Given the description of an element on the screen output the (x, y) to click on. 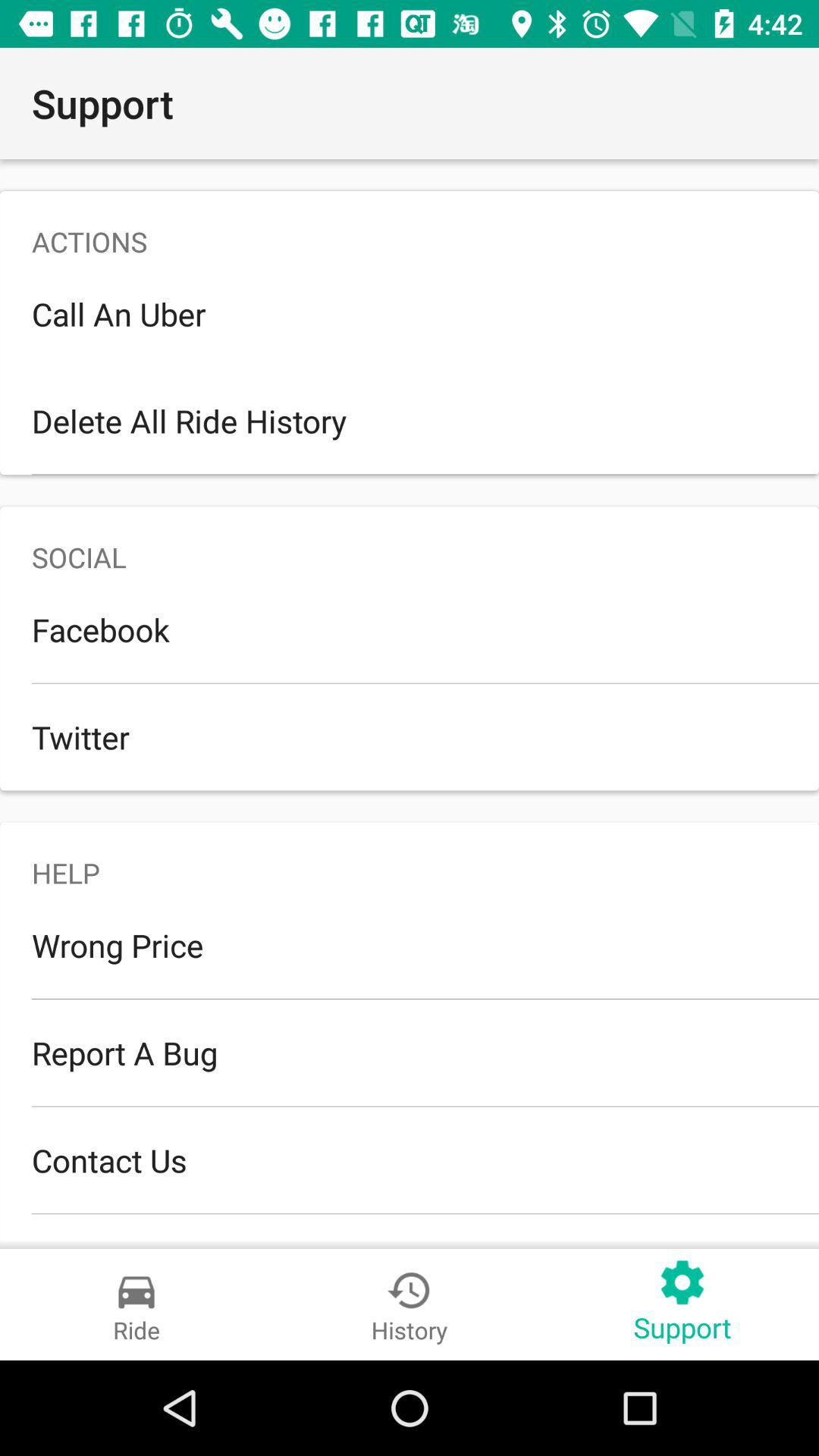
scroll to facebook icon (409, 629)
